Given the description of an element on the screen output the (x, y) to click on. 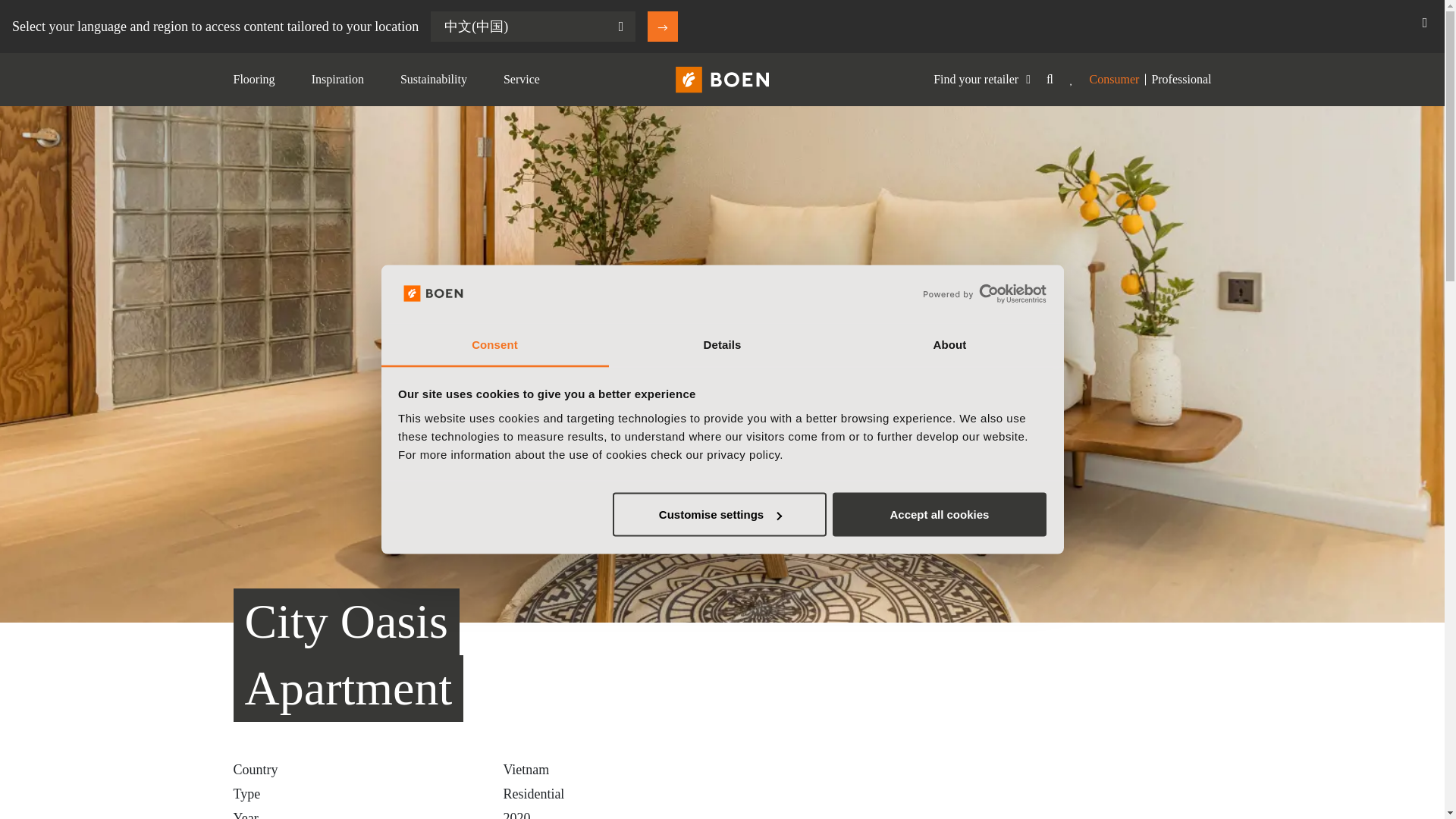
Consent (494, 344)
About (948, 344)
Details (721, 344)
